Given the description of an element on the screen output the (x, y) to click on. 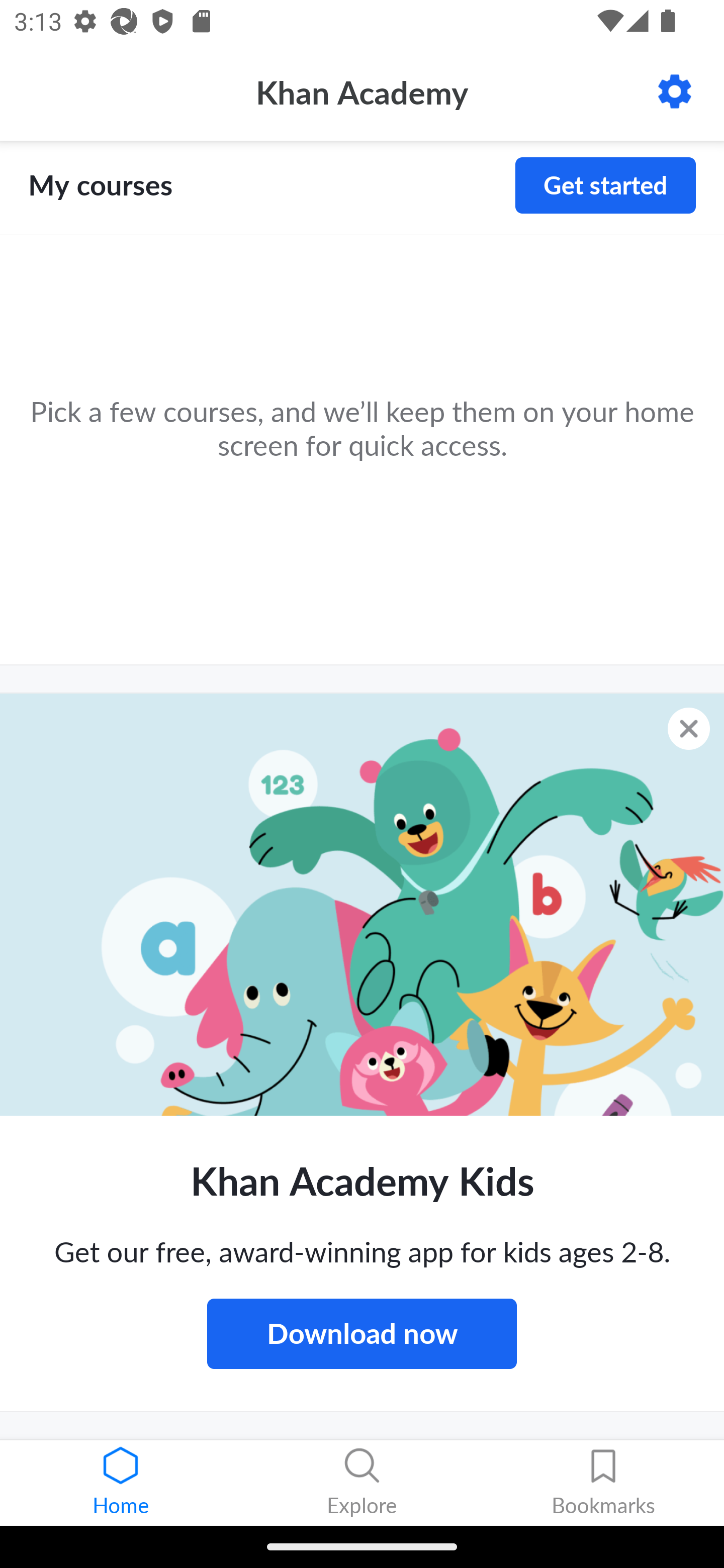
Settings (674, 91)
Get started (605, 184)
Dismiss (688, 728)
Download now (361, 1333)
Home (120, 1482)
Explore (361, 1482)
Bookmarks (603, 1482)
